Given the description of an element on the screen output the (x, y) to click on. 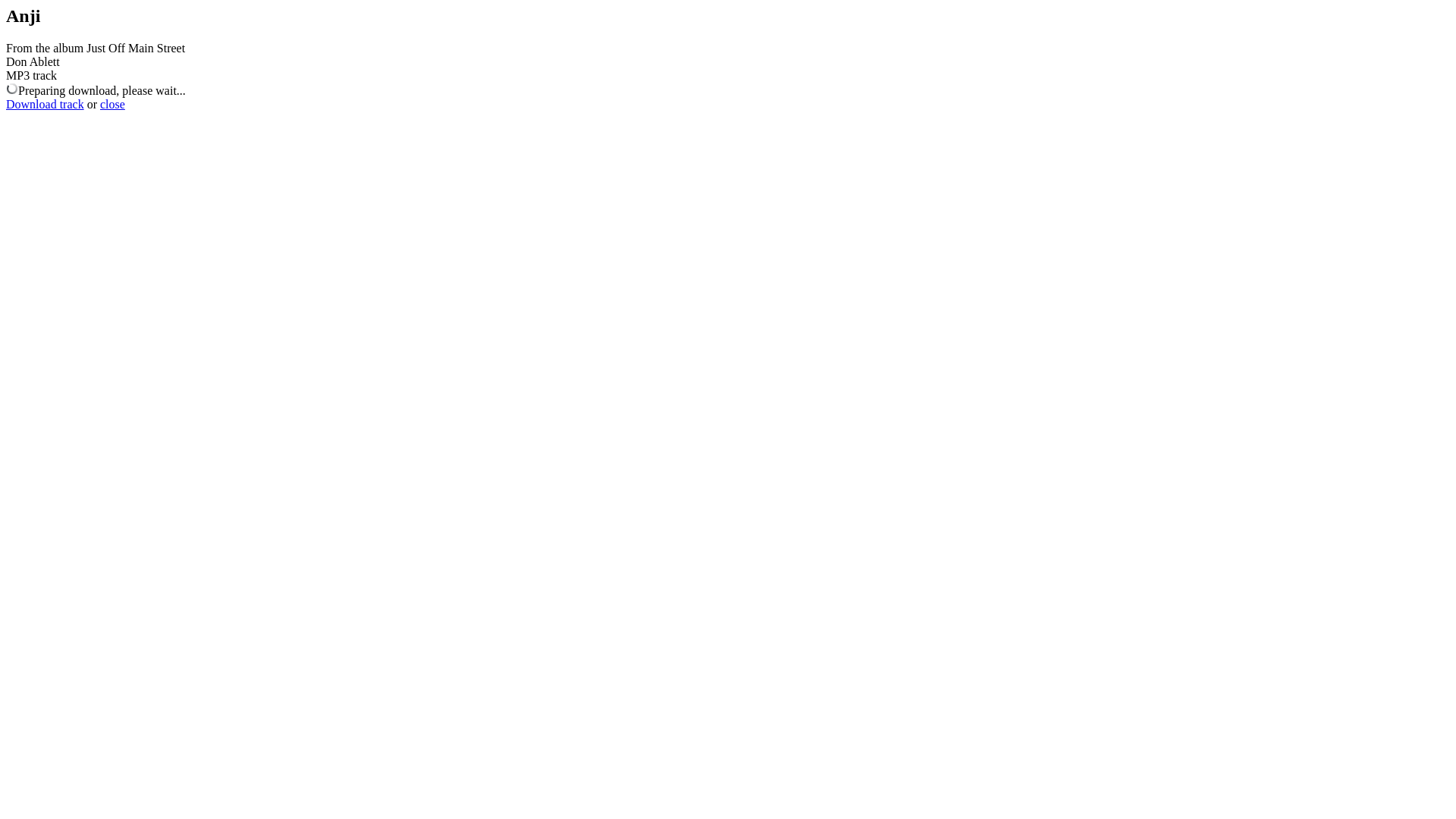
Download track Element type: text (45, 103)
close Element type: text (112, 103)
